Given the description of an element on the screen output the (x, y) to click on. 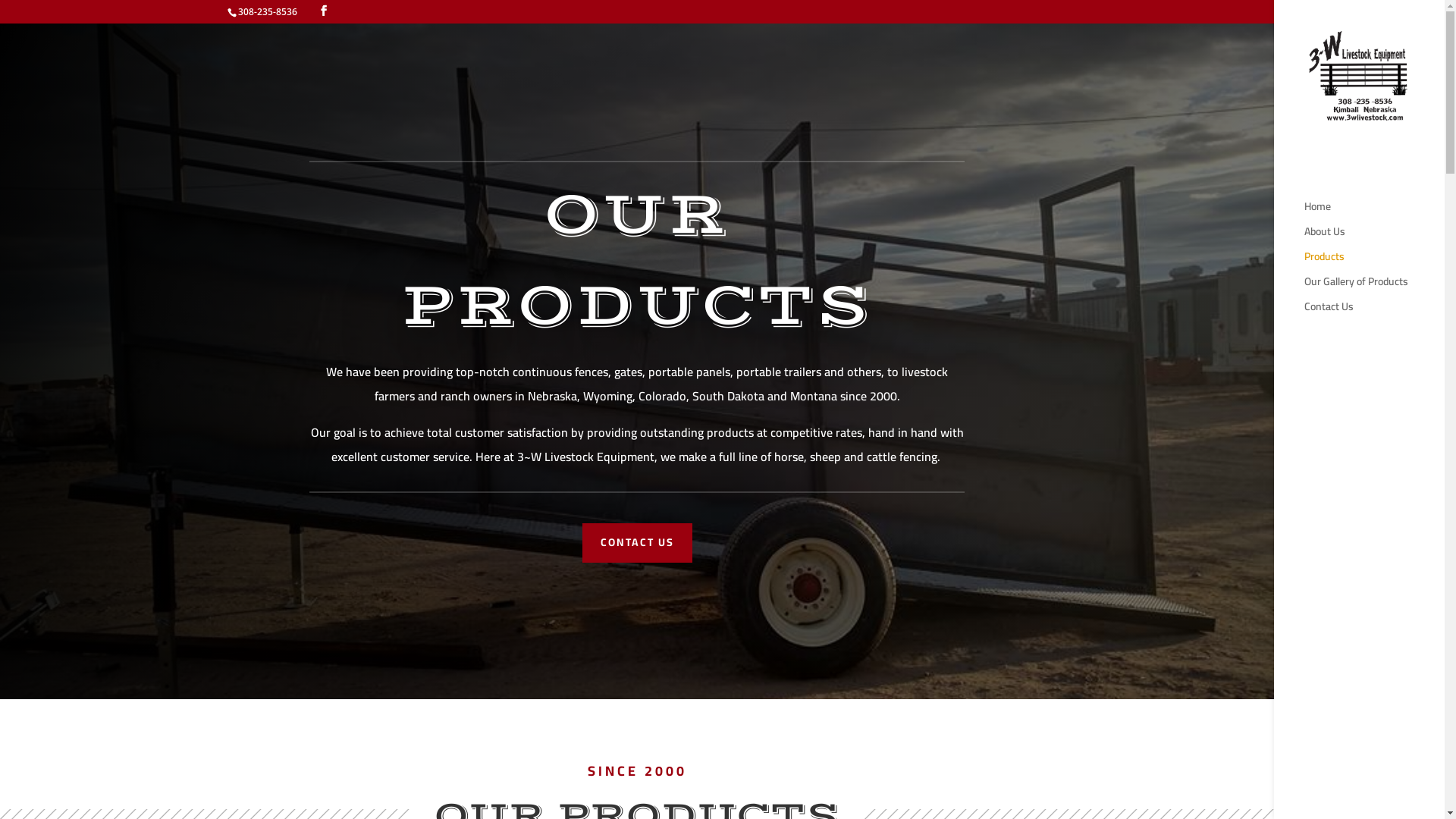
Our Gallery of Products Element type: text (1374, 288)
CONTACT US Element type: text (637, 542)
Products Element type: text (1374, 263)
About Us Element type: text (1374, 238)
Contact Us Element type: text (1374, 313)
Home Element type: text (1374, 212)
